Given the description of an element on the screen output the (x, y) to click on. 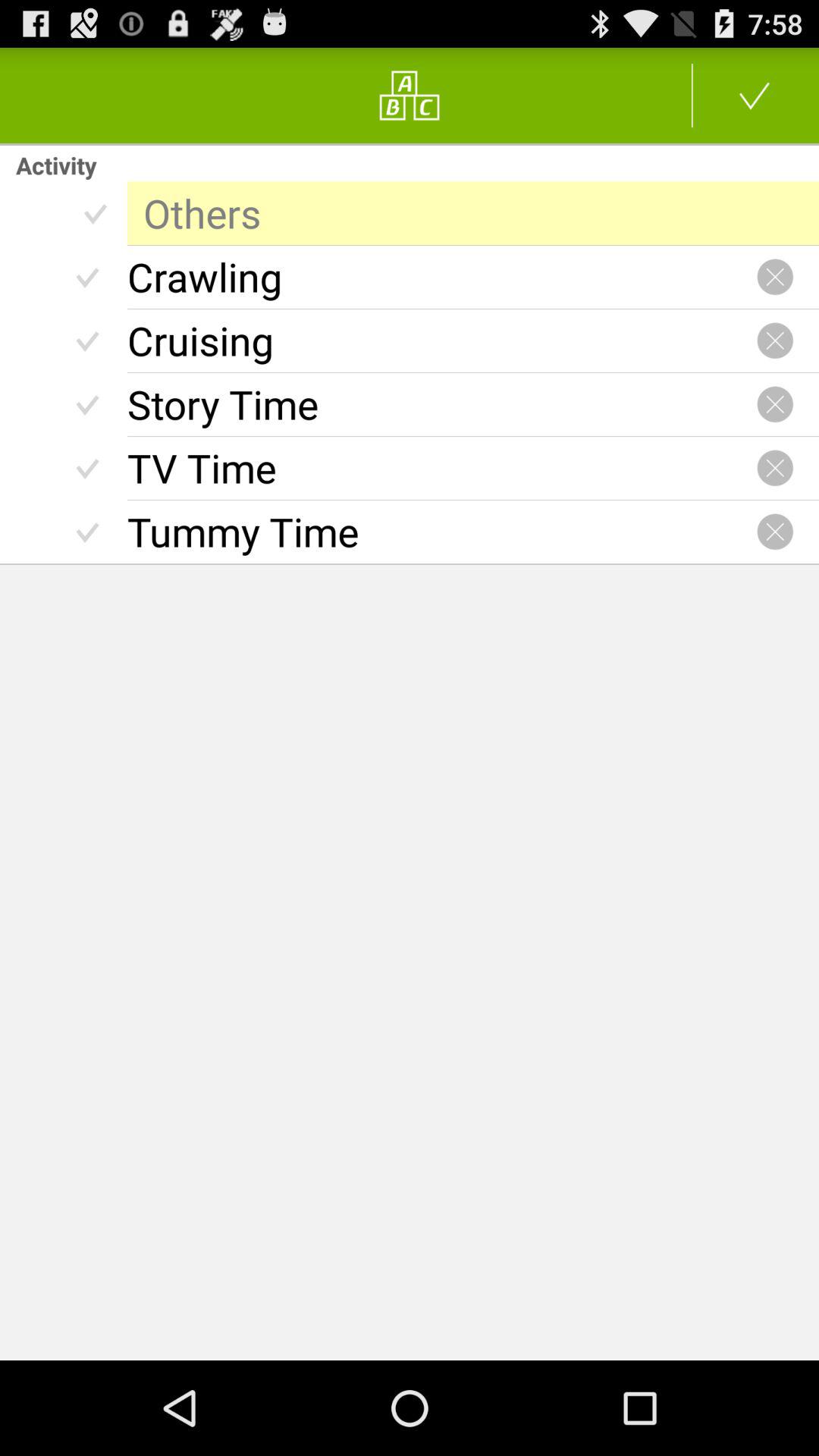
go to close (775, 531)
